Given the description of an element on the screen output the (x, y) to click on. 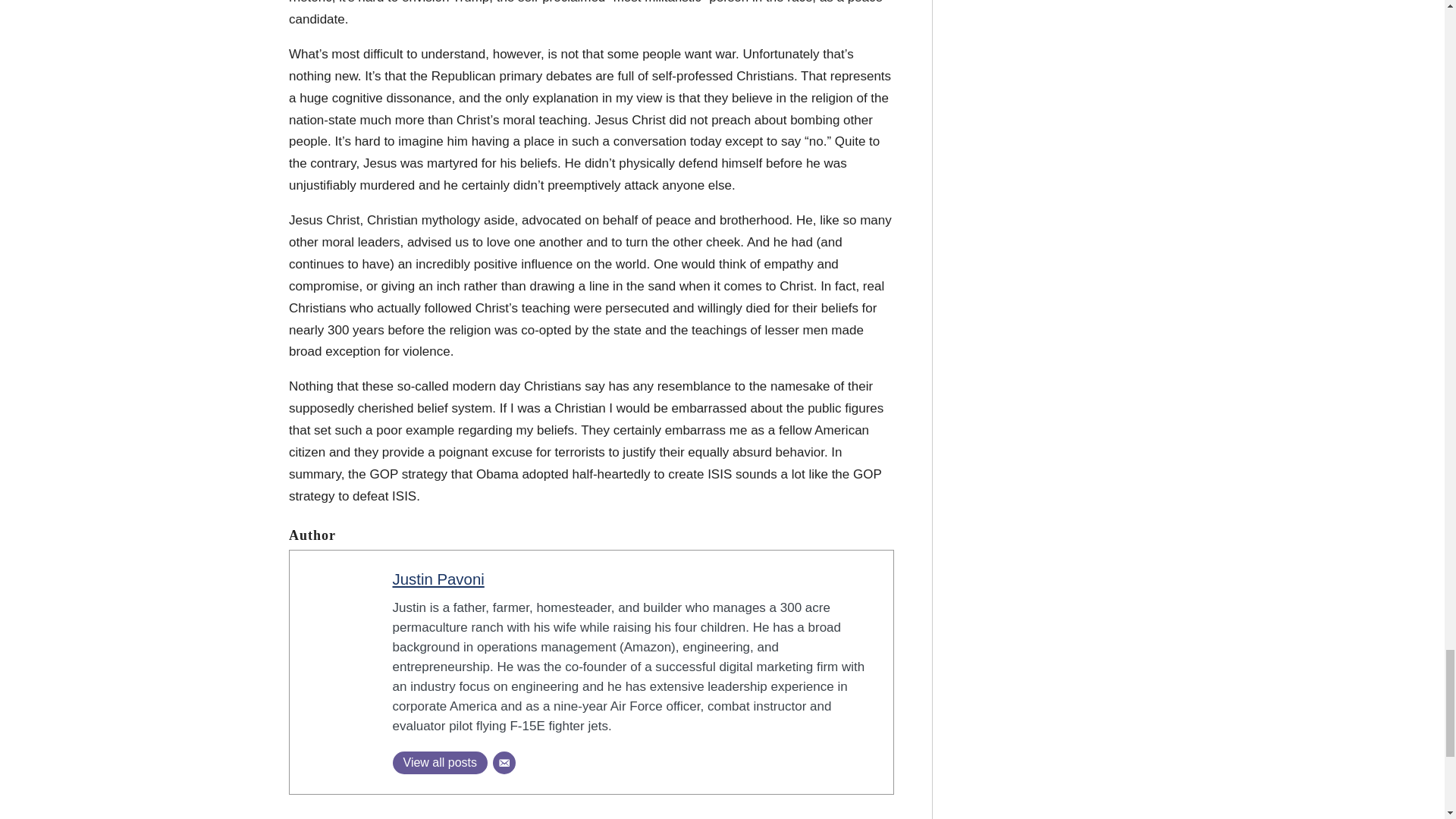
View all posts (440, 762)
Justin Pavoni (438, 579)
Justin Pavoni (438, 579)
View all posts (440, 762)
